Given the description of an element on the screen output the (x, y) to click on. 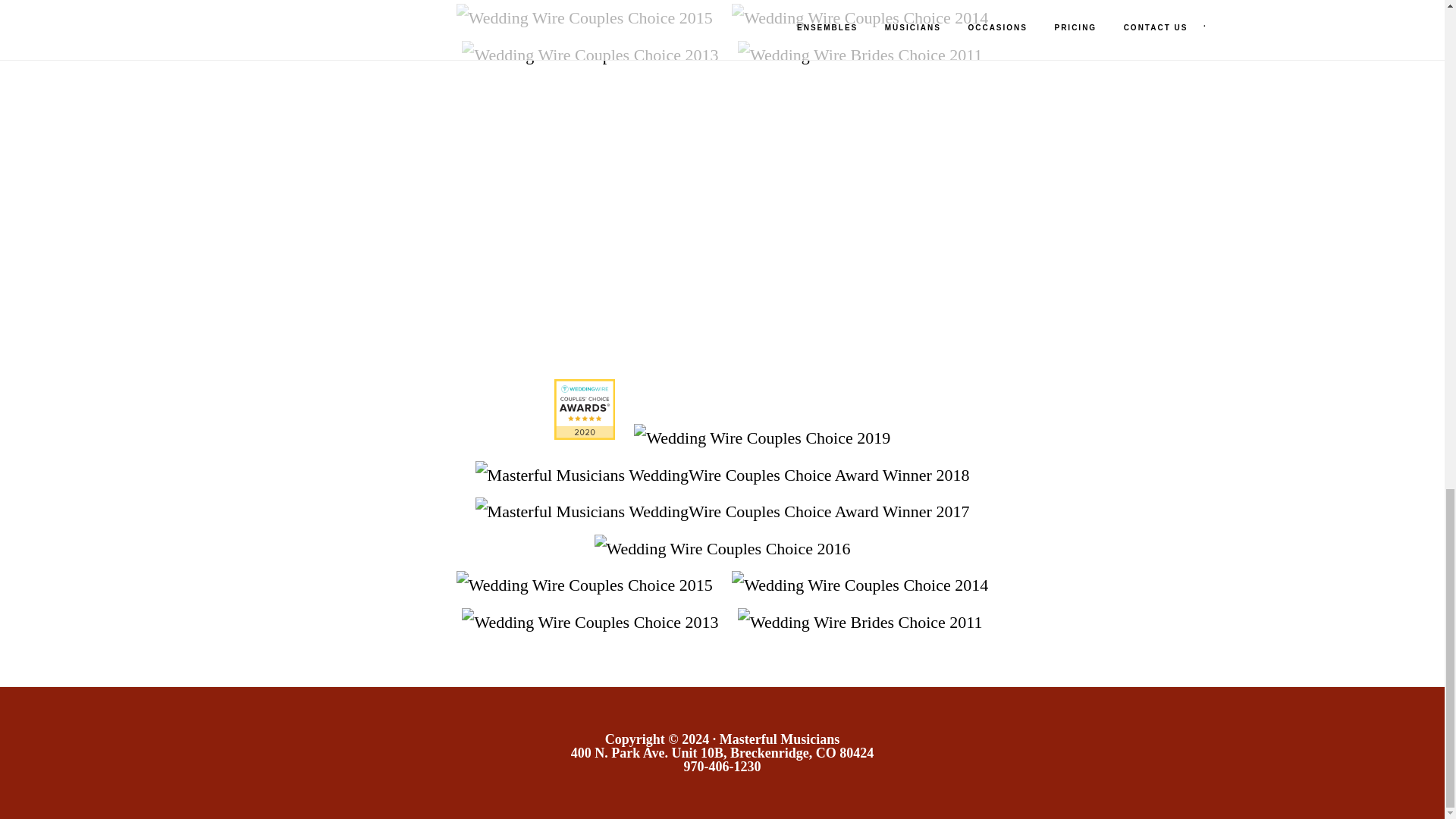
970-406-1230 (722, 766)
